Given the description of an element on the screen output the (x, y) to click on. 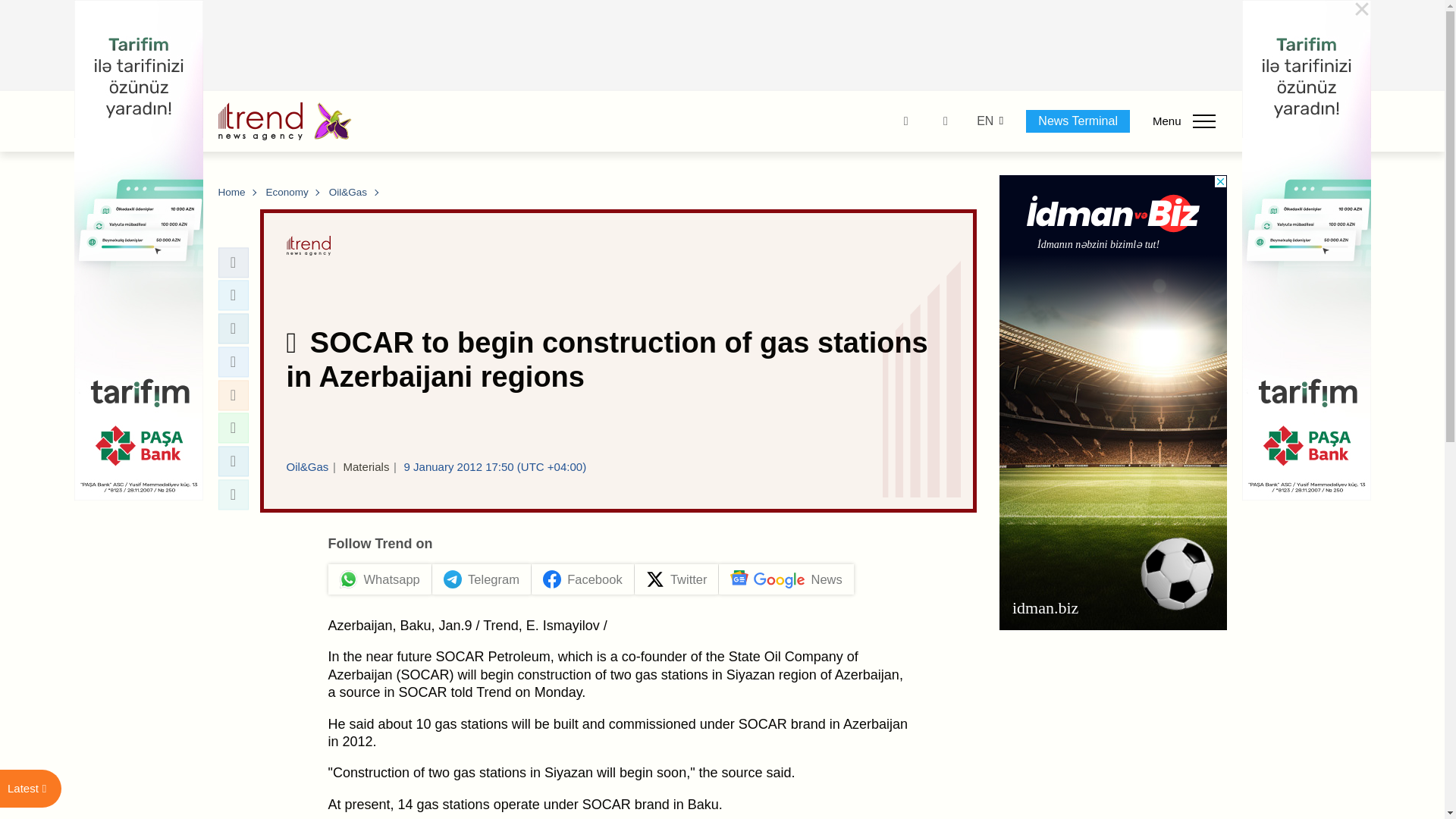
EN (984, 121)
English (984, 121)
News Terminal (1077, 120)
3rd party ad content (722, 45)
